Given the description of an element on the screen output the (x, y) to click on. 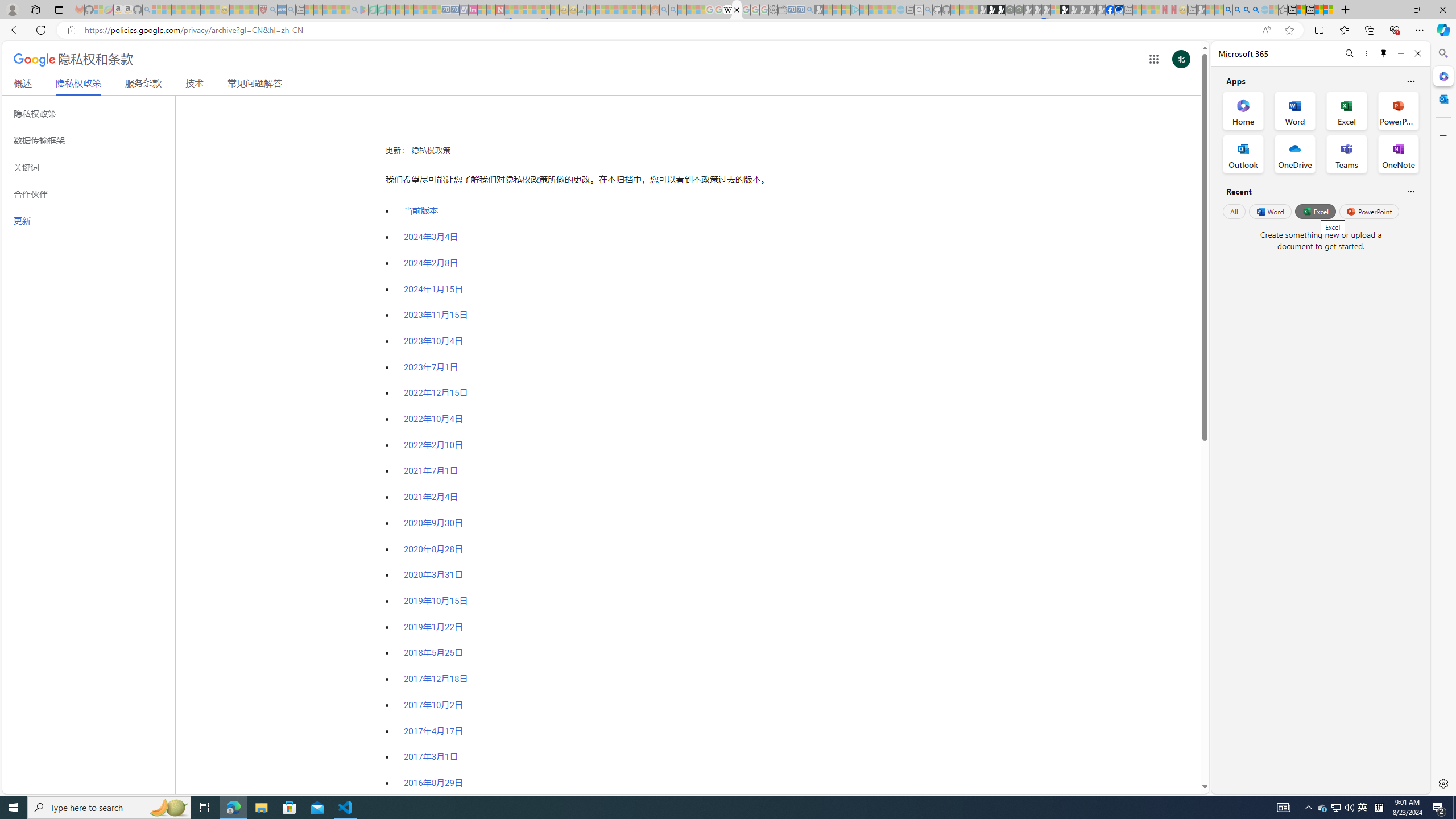
Microsoft Start Gaming - Sleeping (818, 9)
OneDrive Office App (1295, 154)
Bluey: Let's Play! - Apps on Google Play - Sleeping (362, 9)
github - Search - Sleeping (927, 9)
Microsoft account | Privacy - Sleeping (846, 9)
Trusted Community Engagement and Contributions | Guidelines (508, 9)
